Given the description of an element on the screen output the (x, y) to click on. 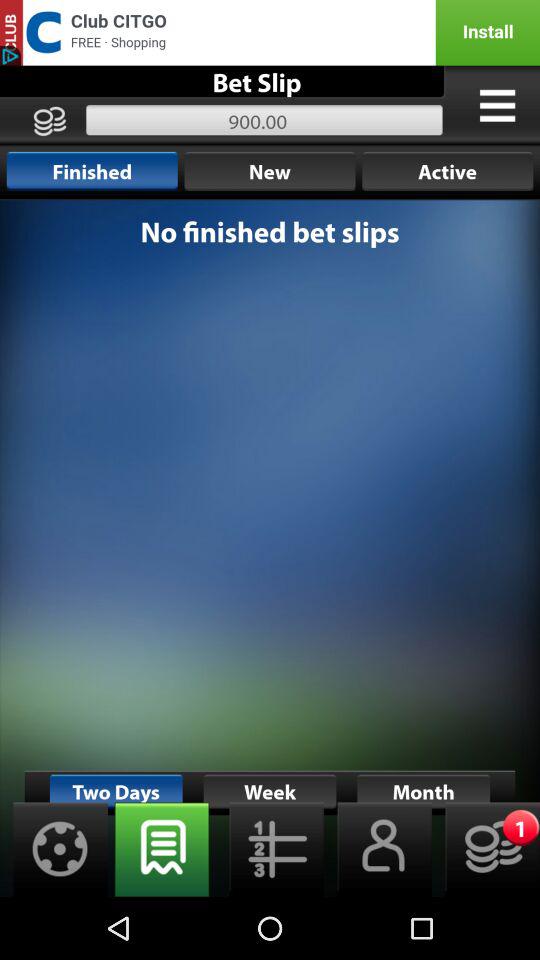
go to costumes (497, 105)
